Given the description of an element on the screen output the (x, y) to click on. 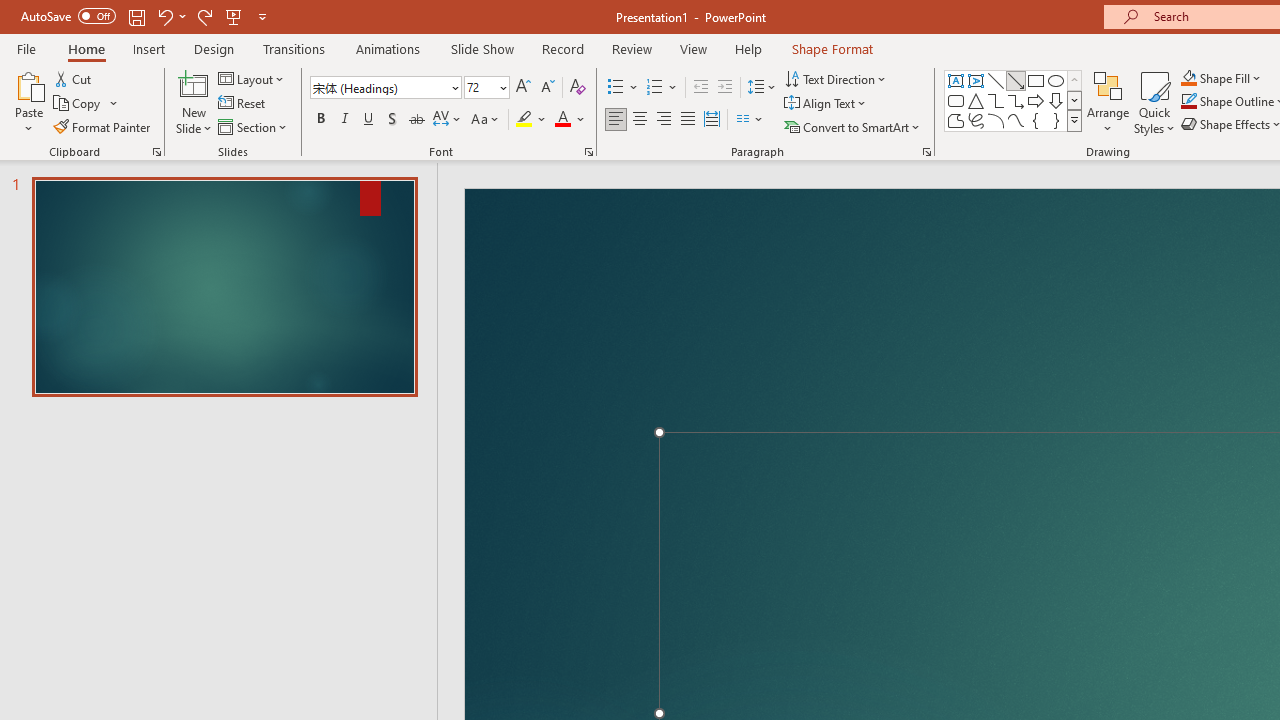
Row Down (1074, 100)
Justify (687, 119)
Paragraph... (926, 151)
Right Brace (1055, 120)
Copy (78, 103)
Format Painter (103, 126)
Bullets (616, 87)
Increase Indent (725, 87)
Bullets (623, 87)
Numbering (654, 87)
Text Box (955, 80)
Reset (243, 103)
